Given the description of an element on the screen output the (x, y) to click on. 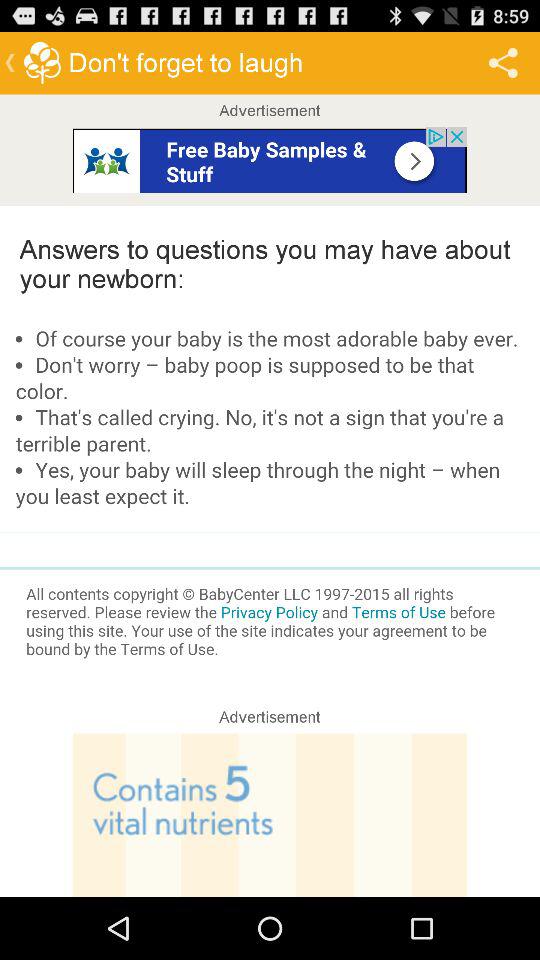
advertisements image (269, 159)
